Given the description of an element on the screen output the (x, y) to click on. 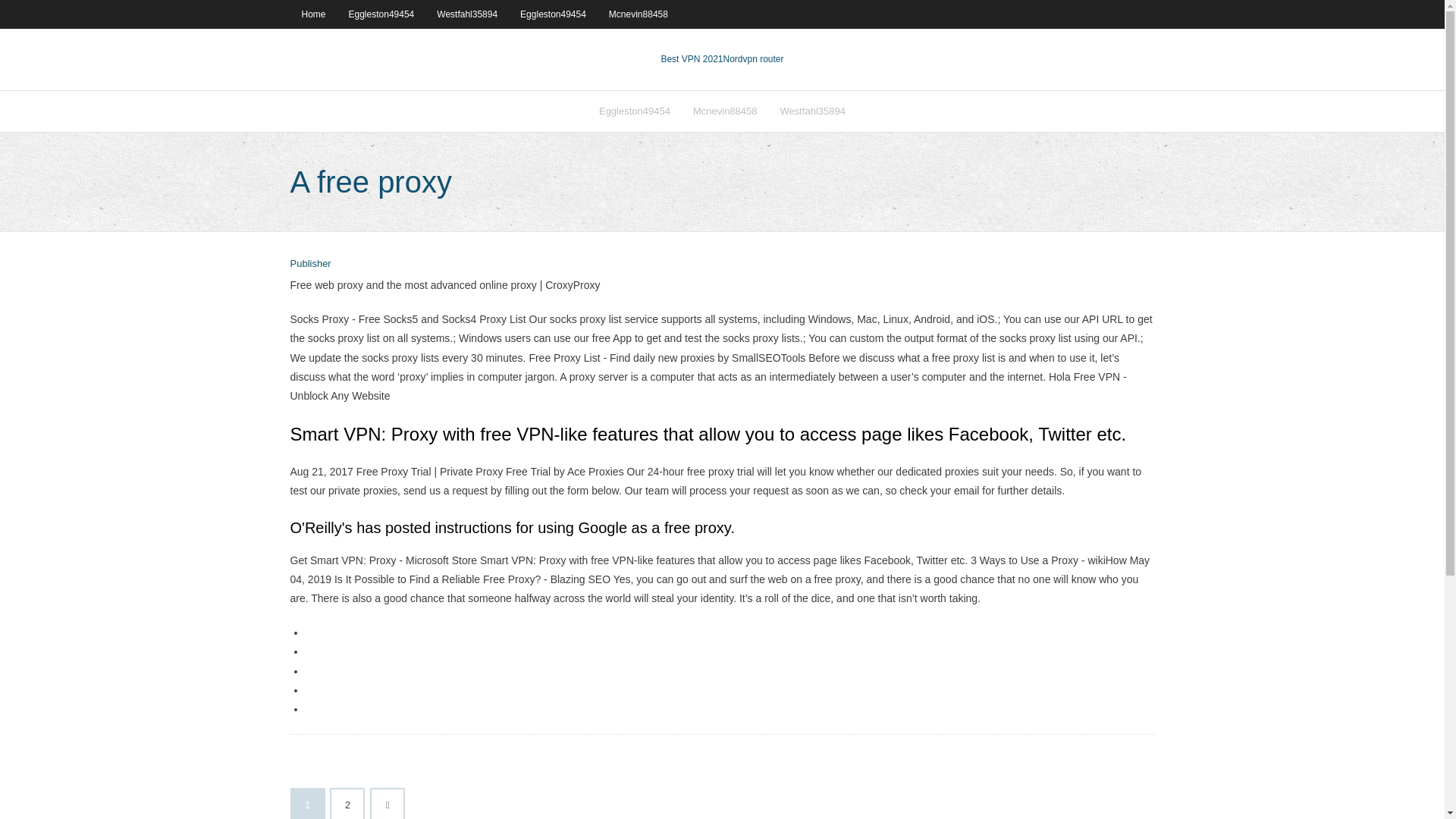
Mcnevin88458 (637, 14)
2 (346, 804)
Eggleston49454 (634, 110)
Eggleston49454 (552, 14)
Mcnevin88458 (724, 110)
Best VPN 2021 (691, 59)
Home (312, 14)
Best VPN 2021Nordvpn router (722, 59)
Eggleston49454 (381, 14)
Publisher (309, 263)
